Given the description of an element on the screen output the (x, y) to click on. 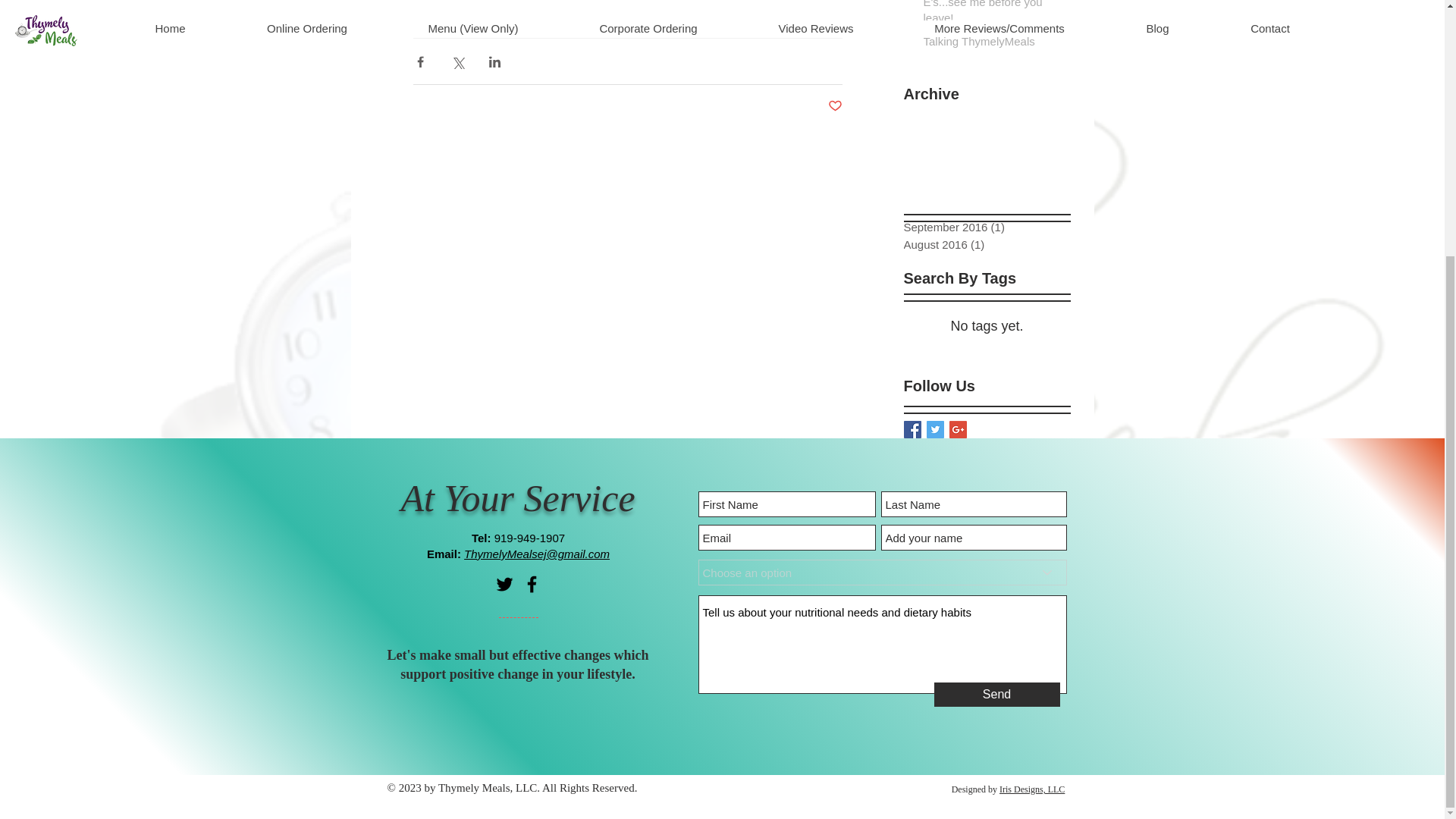
Talking ThymelyMeals (992, 44)
Inaugural Evening at E's...see me before you leave! (992, 15)
Post not marked as liked (835, 106)
919-949-1907 (529, 537)
Iris Designs, LLC (1031, 788)
Send (996, 694)
